Given the description of an element on the screen output the (x, y) to click on. 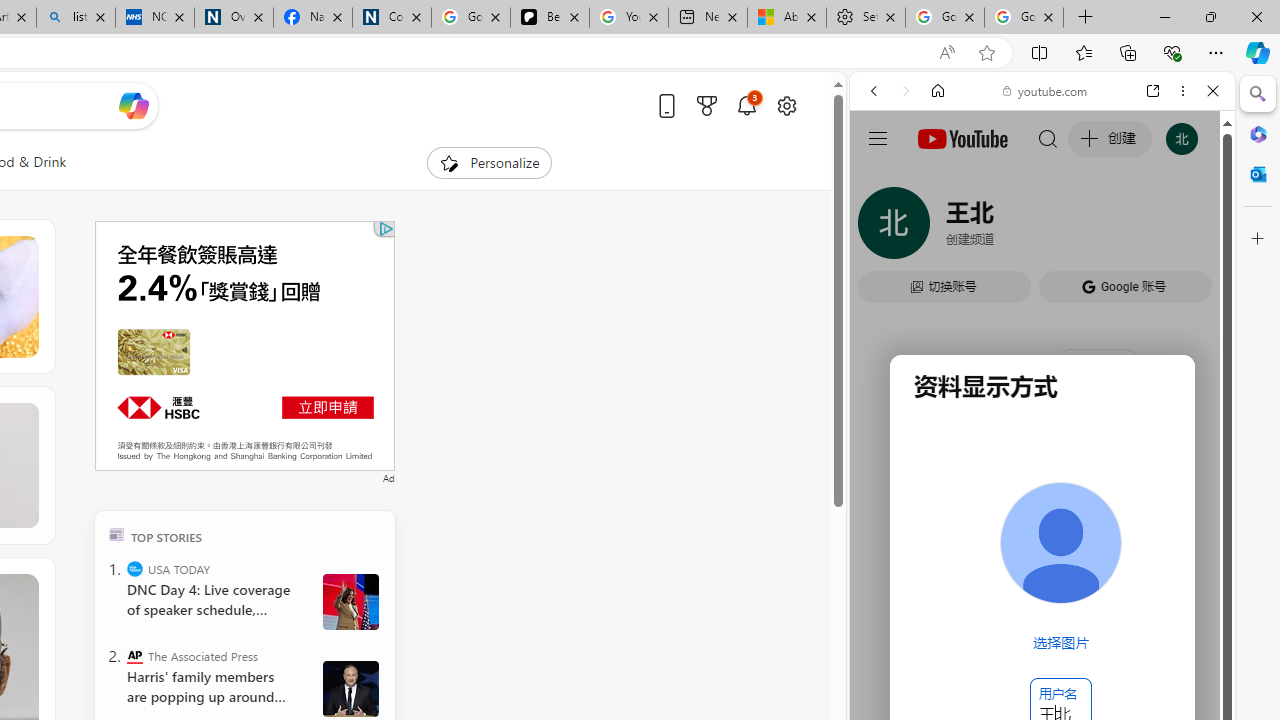
#you (1042, 445)
SEARCH TOOLS (1093, 228)
